Given the description of an element on the screen output the (x, y) to click on. 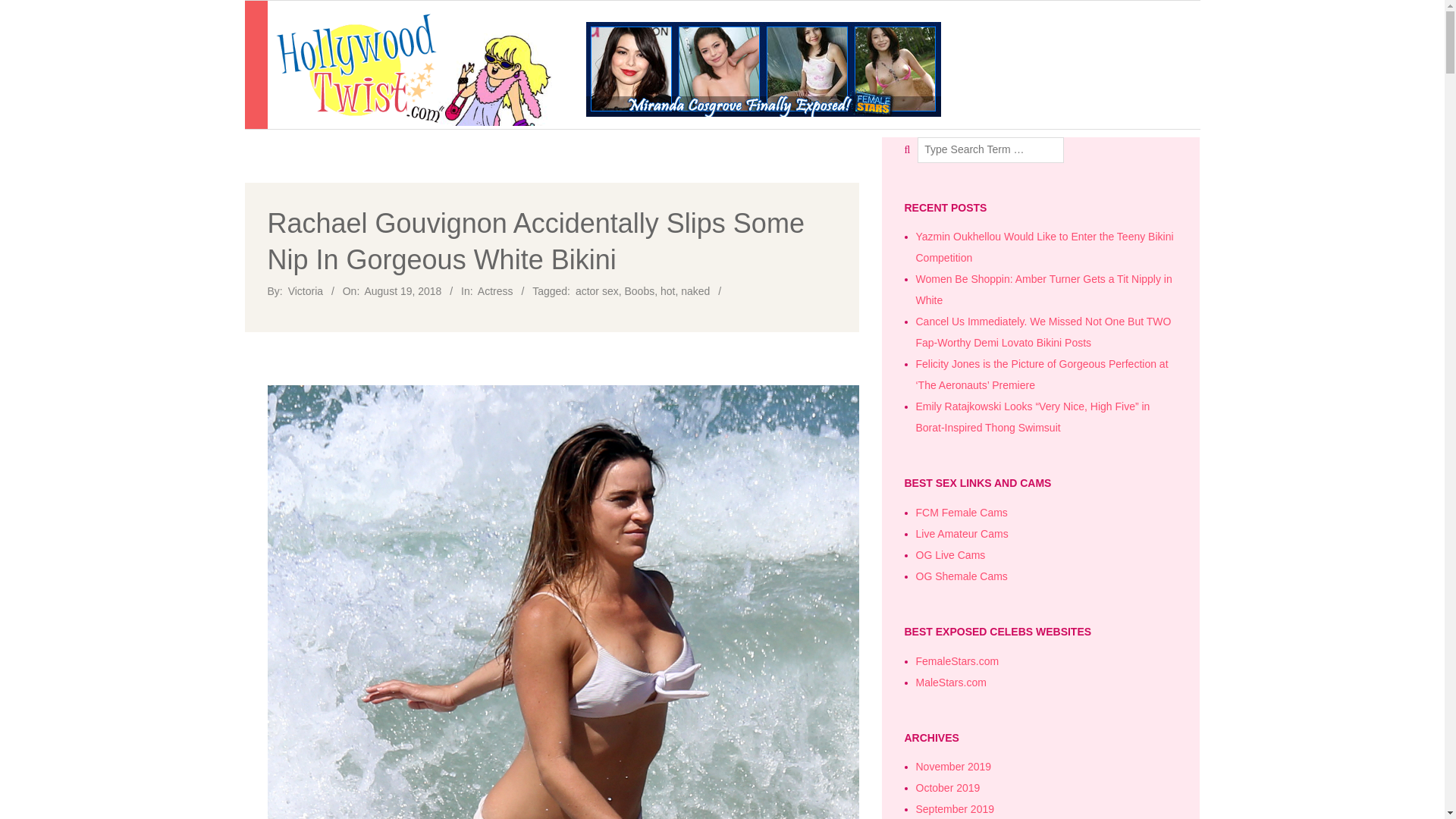
September 2019 (954, 808)
OG Live Cams (950, 554)
FemaleStars.com (956, 661)
Victoria (305, 291)
FCM Female Cams (961, 512)
actor sex (596, 291)
November 2019 (953, 766)
Posts by Victoria (305, 291)
MaleStars.com (951, 682)
Live Amateur Cams (962, 533)
Boobs (638, 291)
Women Be Shoppin: Amber Turner Gets a Tit Nipply in White (1043, 289)
Actress (495, 291)
Sunday, August 19, 2018, 8:33 pm (402, 291)
